Given the description of an element on the screen output the (x, y) to click on. 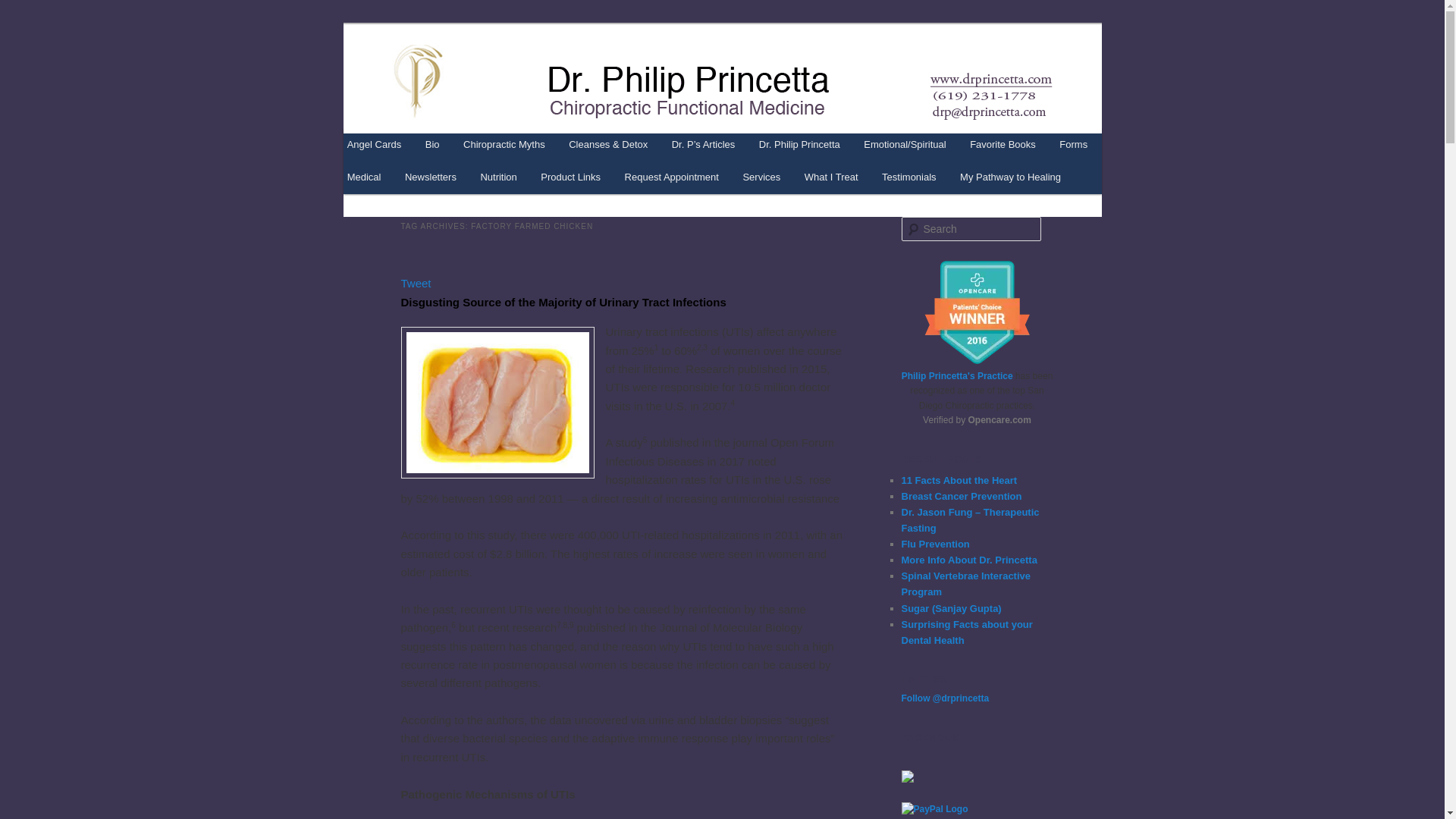
Nutrition (498, 176)
Favorite Books (1002, 143)
Request Appointment (671, 176)
Services (761, 176)
Product Links (570, 176)
Angel Cards (373, 143)
My Pathway to Healing (1009, 176)
Forms (1073, 143)
Dr. Philip Princetta (501, 78)
